Given the description of an element on the screen output the (x, y) to click on. 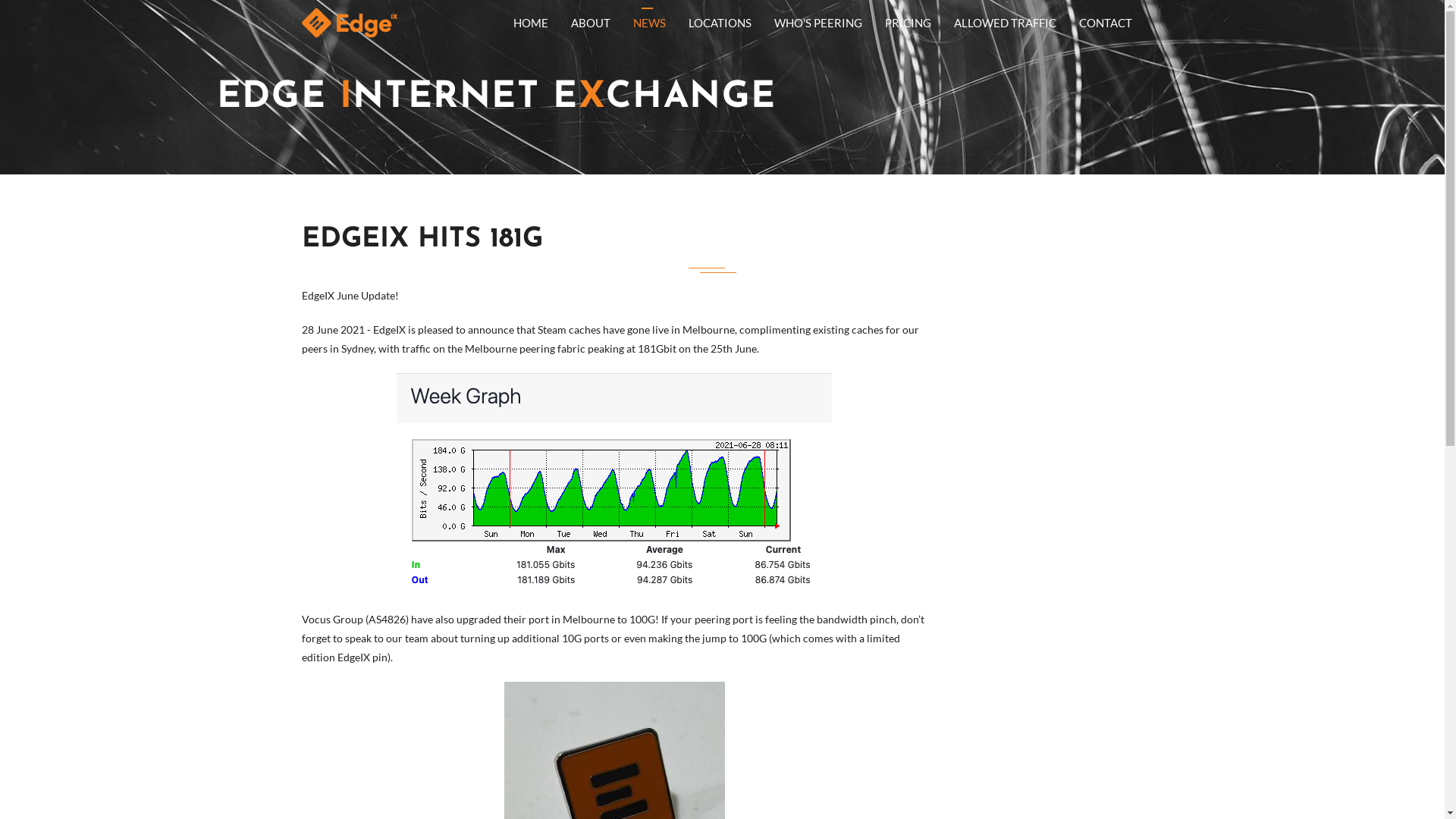
ABOUT Element type: text (590, 22)
LOCATIONS Element type: text (719, 22)
HOME Element type: text (530, 22)
ALLOWED TRAFFIC Element type: text (1003, 22)
PRICING Element type: text (907, 22)
CONTACT Element type: text (1105, 22)
WHO'S PEERING Element type: text (817, 22)
NEWS Element type: text (649, 22)
